Given the description of an element on the screen output the (x, y) to click on. 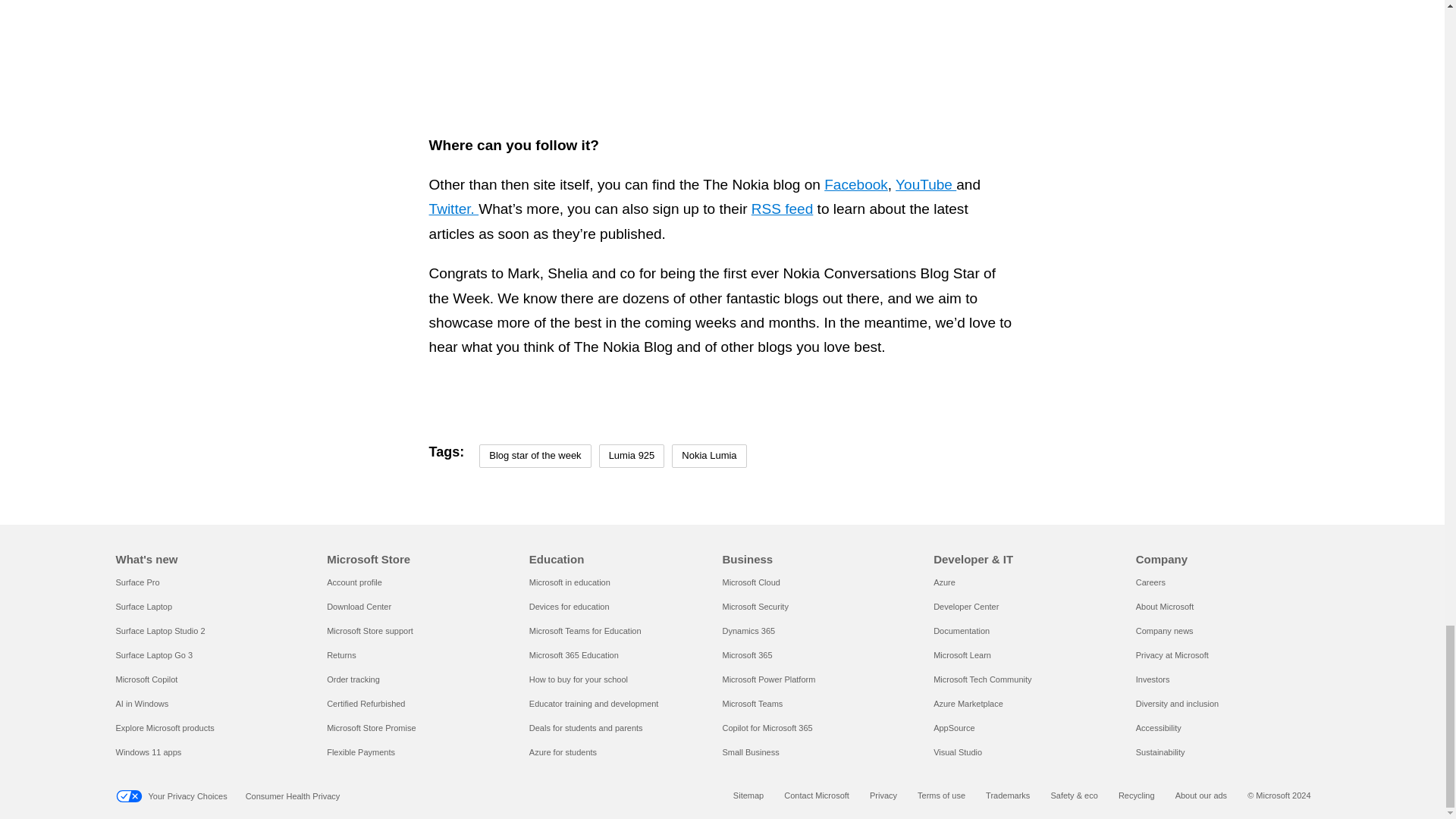
Nokia Lumia Tag (708, 455)
Blog star of the week Tag (535, 455)
Lumia 925 Tag (631, 455)
